Given the description of an element on the screen output the (x, y) to click on. 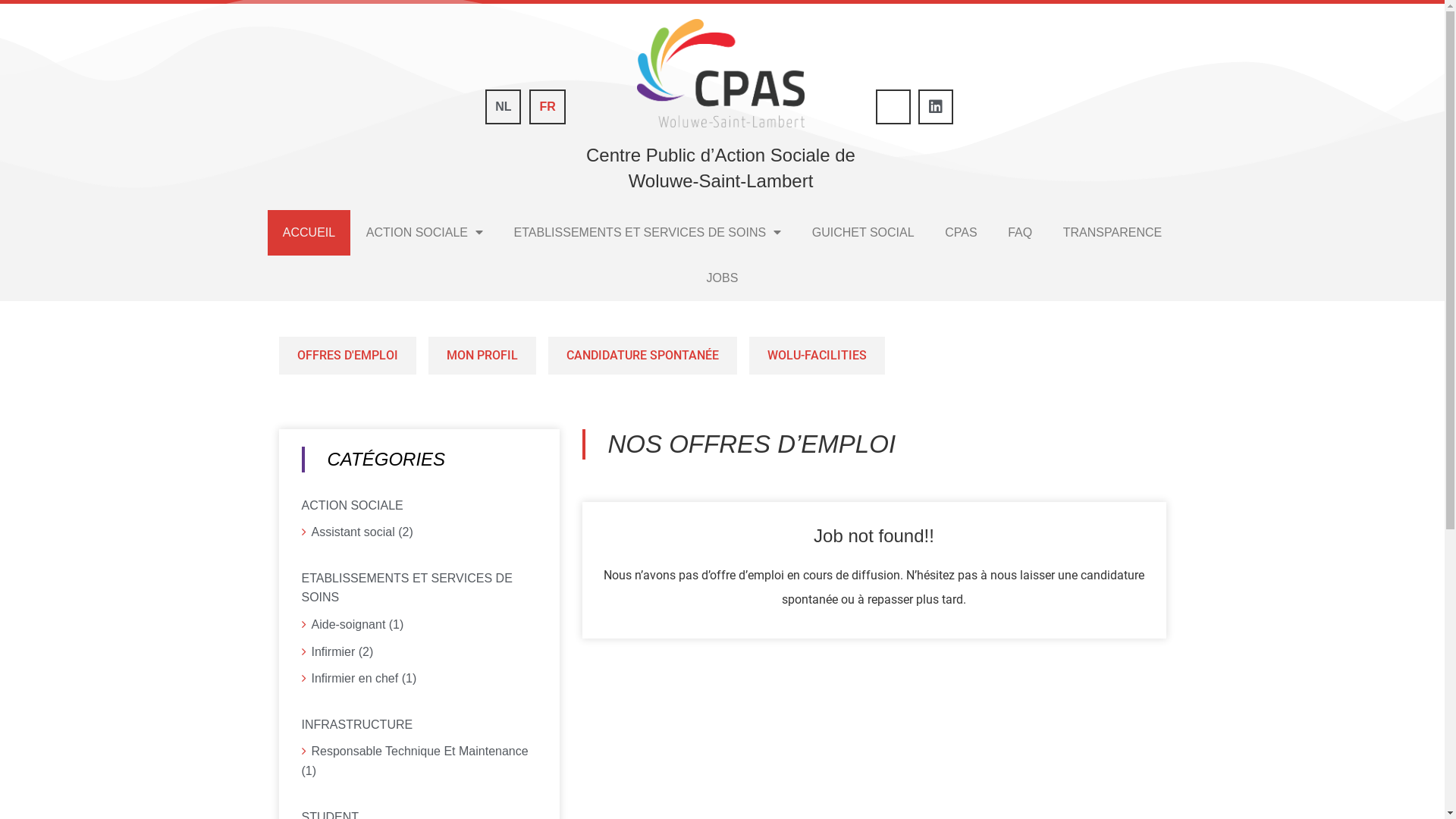
GUICHET SOCIAL Element type: text (862, 232)
JOBS Element type: text (721, 278)
TRANSPARENCE Element type: text (1111, 232)
ETABLISSEMENTS ET SERVICES DE SOINS Element type: text (647, 232)
Aide-soignant (1) Element type: text (418, 624)
FAQ Element type: text (1020, 232)
FR Element type: text (546, 106)
CPAS Element type: text (960, 232)
ACTION SOCIALE Element type: text (424, 232)
Assistant social (2) Element type: text (418, 532)
Infirmier (2) Element type: text (418, 652)
OFFRES D'EMPLOI Element type: text (347, 355)
NL Element type: text (502, 106)
WOLU-FACILITIES Element type: text (816, 355)
ACTION SOCIALE Element type: text (418, 503)
INFRASTRUCTURE Element type: text (418, 722)
ETABLISSEMENTS ET SERVICES DE SOINS Element type: text (418, 586)
ACCUEIL Element type: text (308, 232)
Infirmier en chef (1) Element type: text (418, 678)
MON PROFIL Element type: text (481, 355)
Responsable Technique Et Maintenance (1) Element type: text (418, 760)
